Given the description of an element on the screen output the (x, y) to click on. 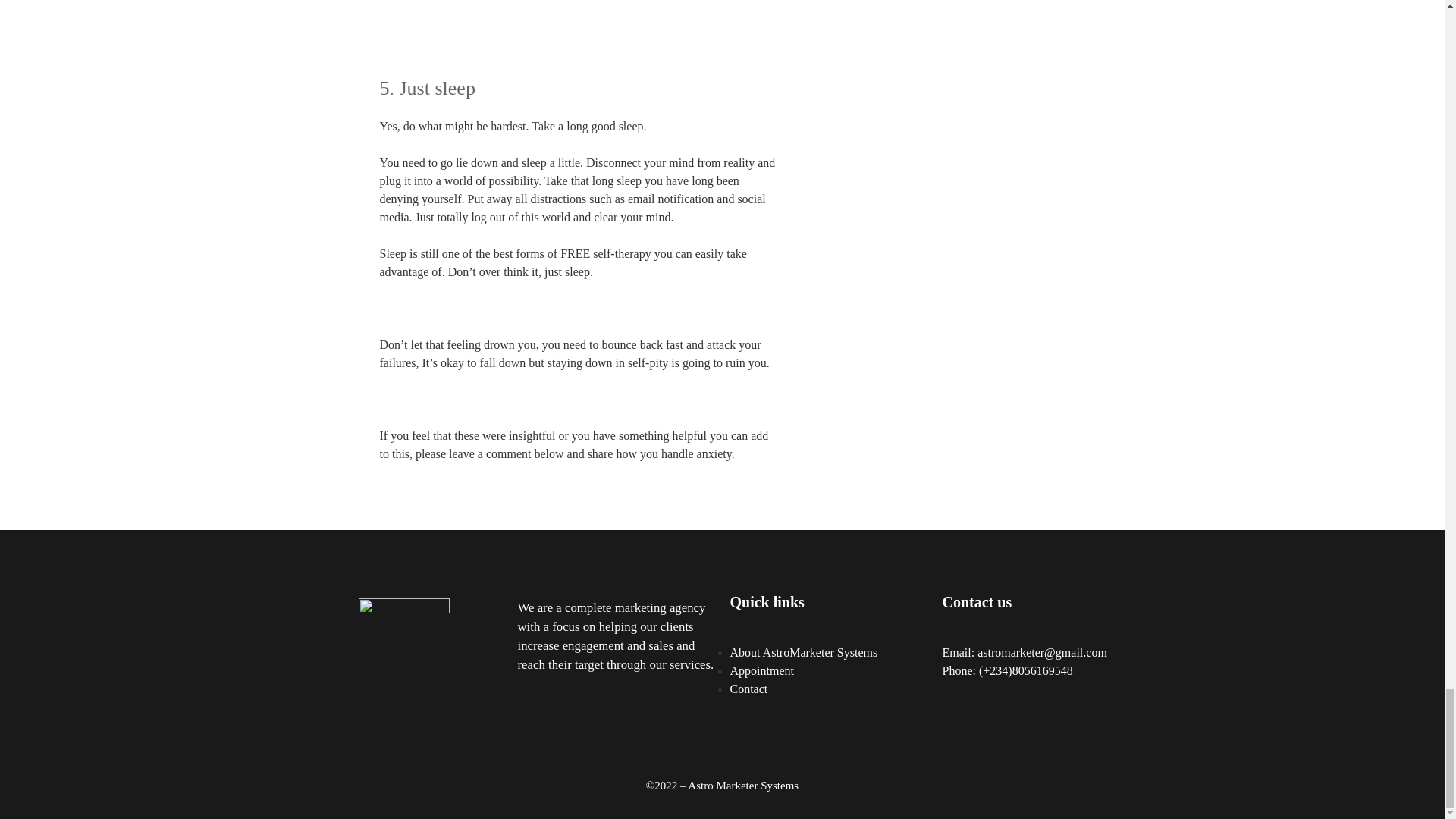
About AstroMarketer Systems (803, 652)
Contact (748, 688)
Appointment (761, 670)
